Given the description of an element on the screen output the (x, y) to click on. 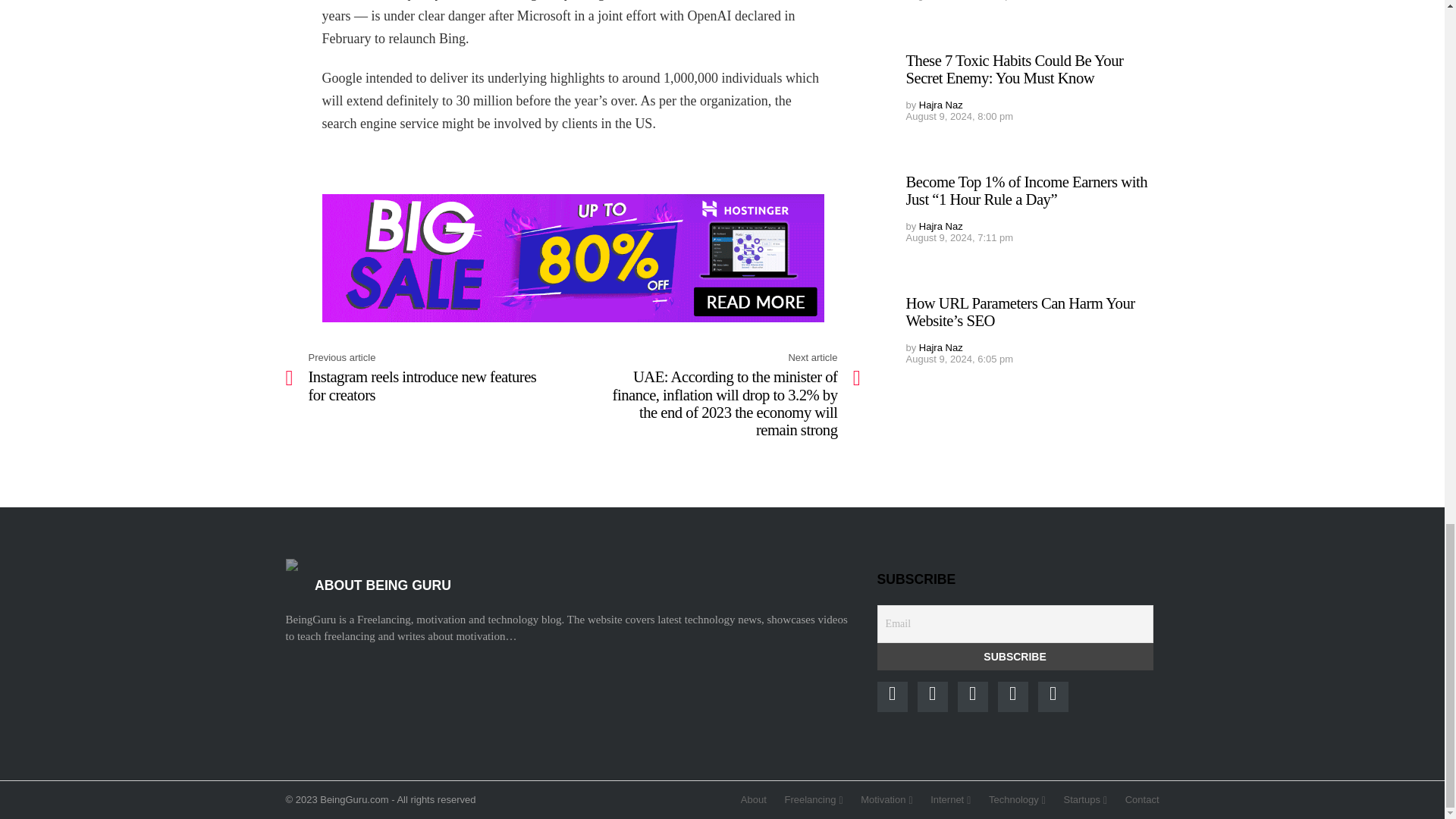
Posts by Hajra Naz (940, 225)
Posts by Hajra Naz (940, 347)
Want a Free Website (572, 258)
Posts by Hajra Naz (940, 104)
Subscribe (1015, 656)
